Given the description of an element on the screen output the (x, y) to click on. 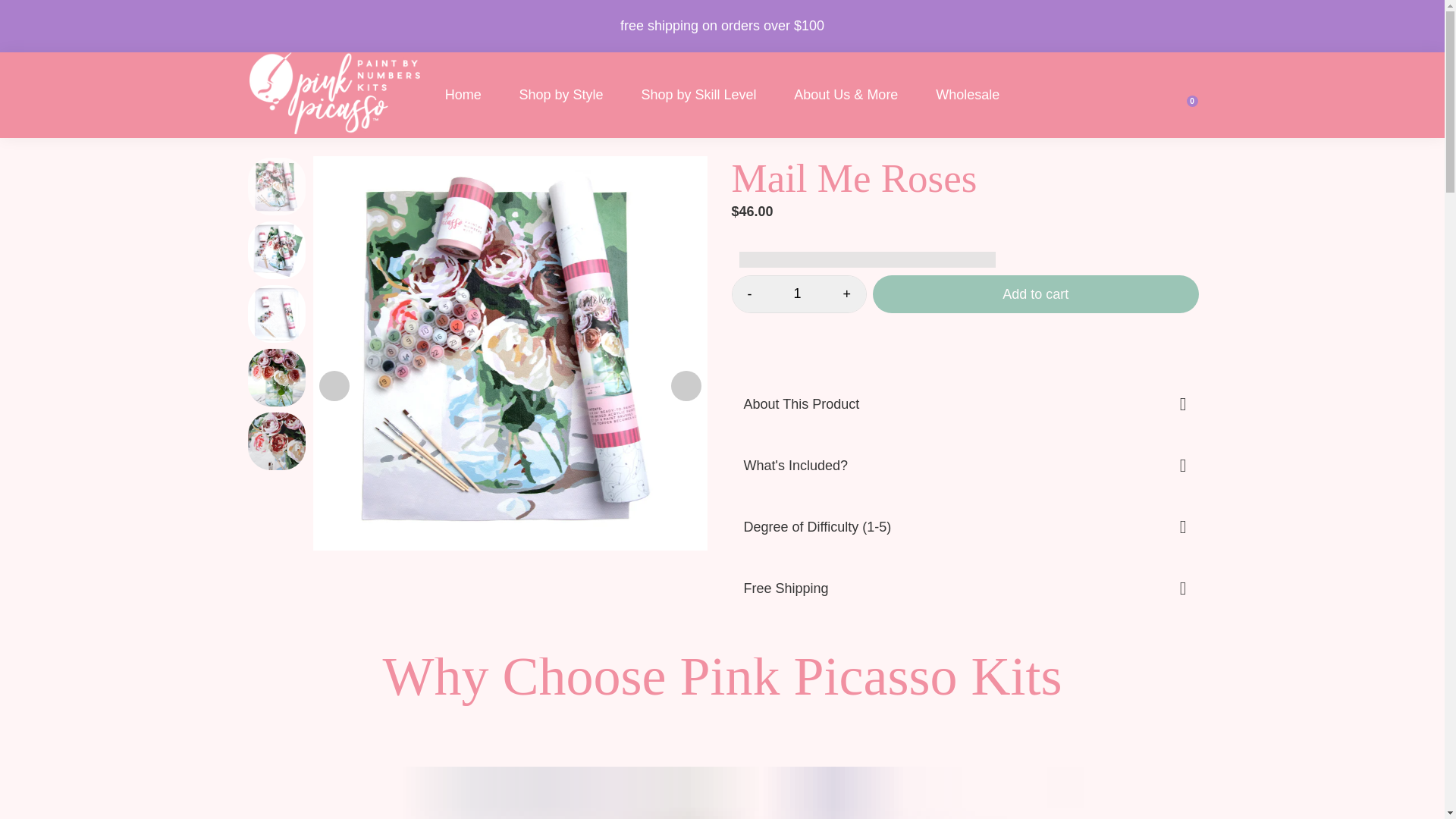
Shop by Skill Level (698, 94)
Wholesale (967, 94)
Shop by Style (560, 94)
1 (797, 294)
Home (462, 94)
